Given the description of an element on the screen output the (x, y) to click on. 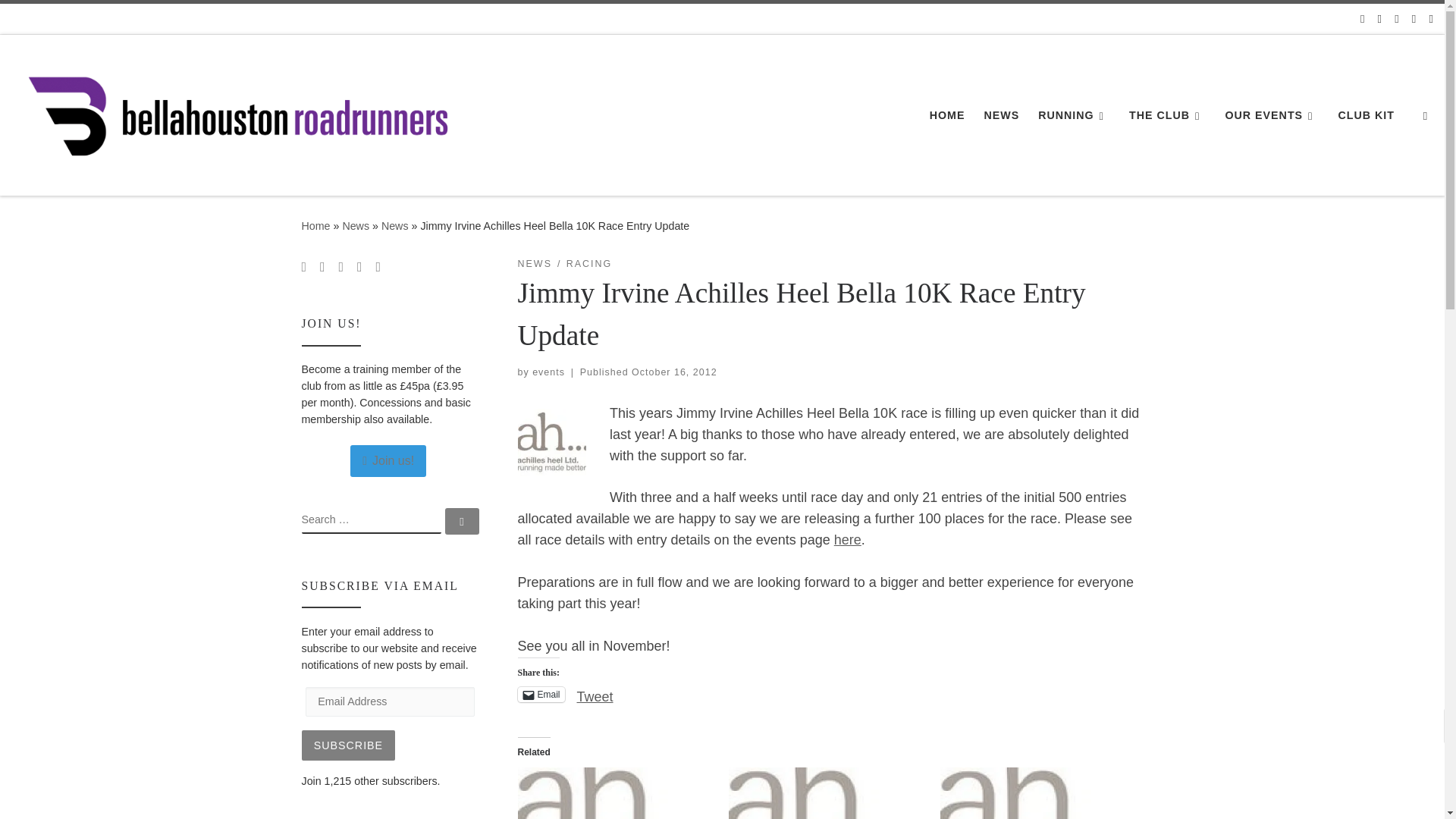
NEWS (1000, 115)
OUR EVENTS (1271, 115)
News (395, 225)
Bellahouston Road Runners (315, 225)
View all posts in Racing (589, 264)
HOME (946, 115)
RUNNING (1074, 115)
View all posts in News (533, 264)
CLUB KIT (1366, 115)
View all posts by events (548, 371)
News (355, 225)
Jimmy Irvine Achilles Heel Bella 10K Race Update (826, 793)
10:57 pm (673, 371)
Bella 5k and Jimmy Irvine Bella 10K Race Series 2012 (614, 793)
THE CLUB (1167, 115)
